Given the description of an element on the screen output the (x, y) to click on. 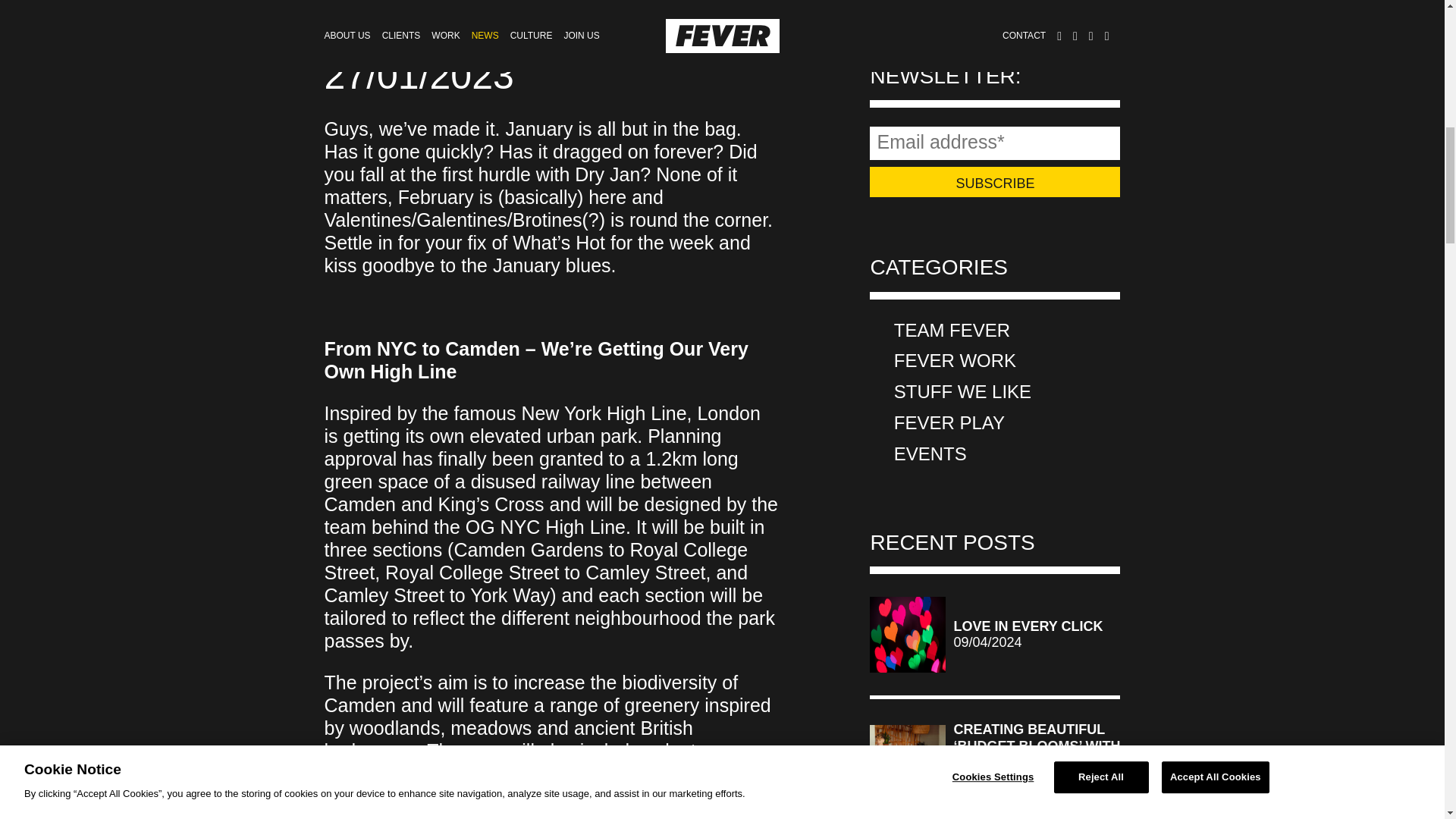
SUBSCRIBE (994, 182)
TEAM FEVER (951, 331)
STUFF WE LIKE (961, 392)
FEVER WORK (954, 361)
SUBSCRIBE (994, 182)
EVENTS (929, 454)
FEVER PLAY (948, 423)
